Given the description of an element on the screen output the (x, y) to click on. 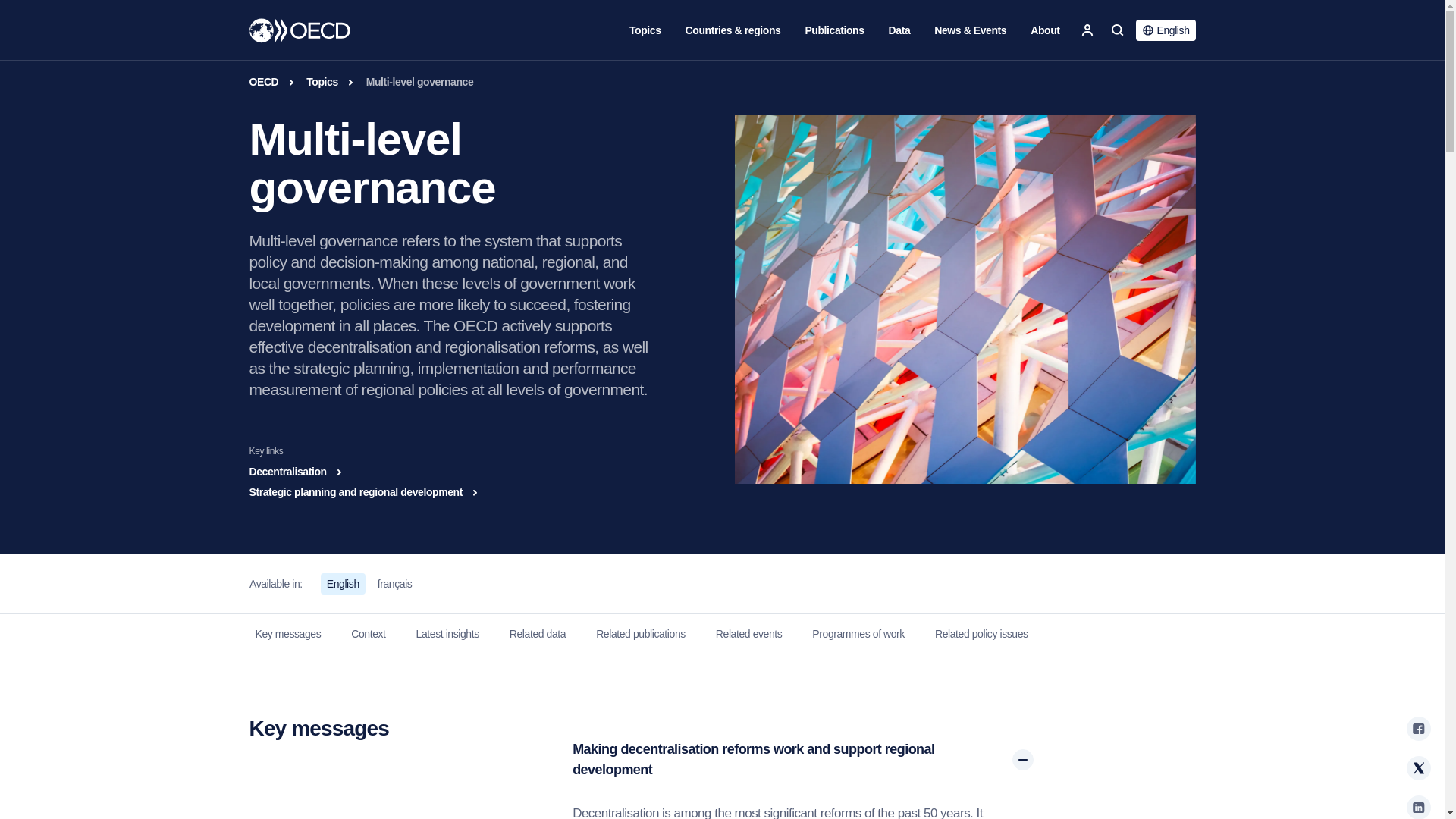
Topics (644, 29)
OECD (299, 30)
